Given the description of an element on the screen output the (x, y) to click on. 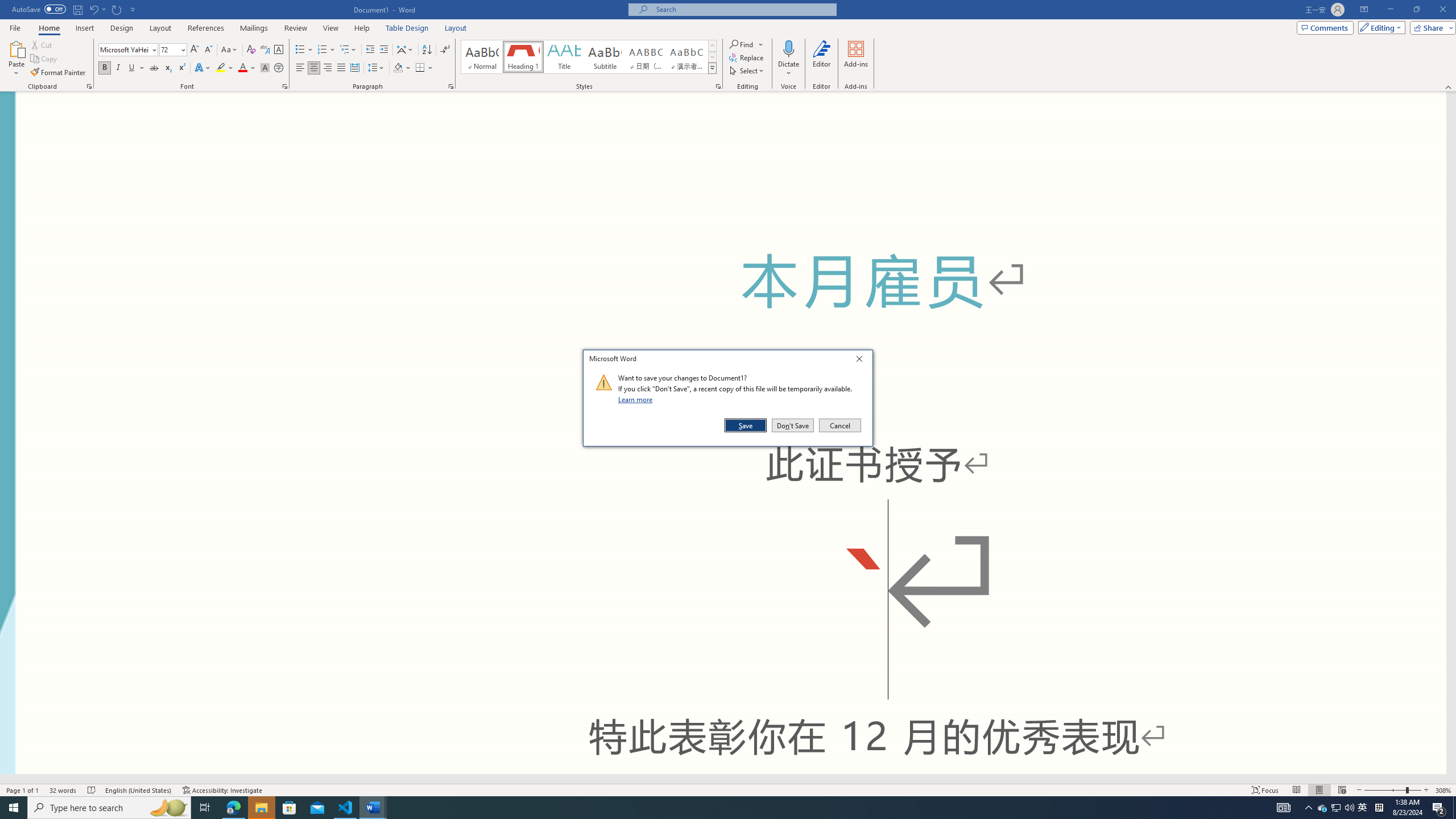
File Explorer - 1 running window (261, 807)
Change Case (229, 49)
Center (313, 67)
Class: NetUIScrollBar (722, 778)
Visual Studio Code - 1 running window (345, 807)
Cut (42, 44)
Distributed (354, 67)
Shrink Font (208, 49)
Word Count 32 words (63, 790)
Class: MsoCommandBar (1362, 807)
Superscript (728, 45)
